Given the description of an element on the screen output the (x, y) to click on. 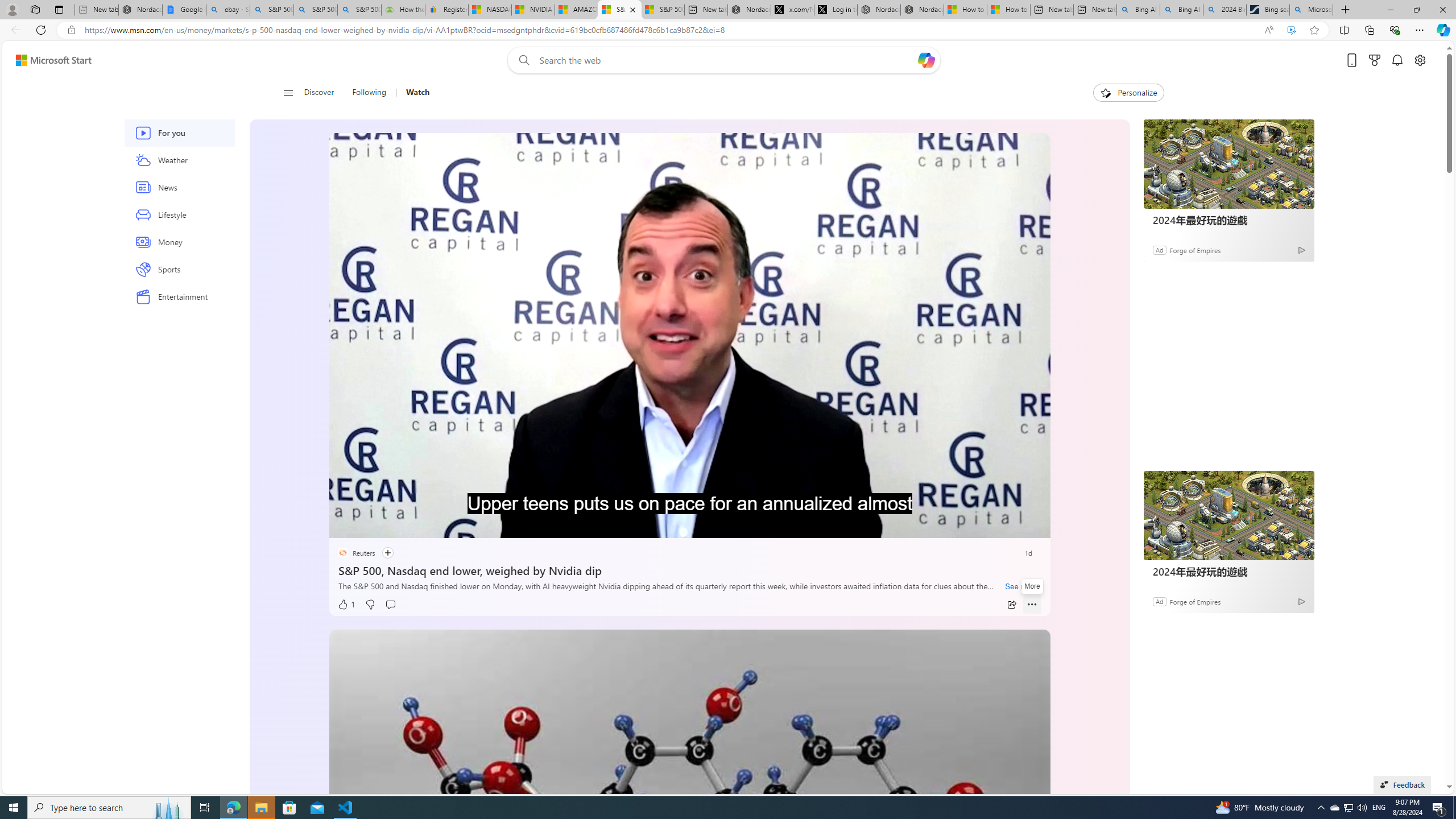
S&P 500 index financial crisis decline - Search (359, 9)
Bing AI - Search (1181, 9)
Web search (520, 60)
Skip to footer (46, 59)
Seek Forward (391, 525)
Fullscreen (1011, 525)
Personalize (1128, 92)
